Given the description of an element on the screen output the (x, y) to click on. 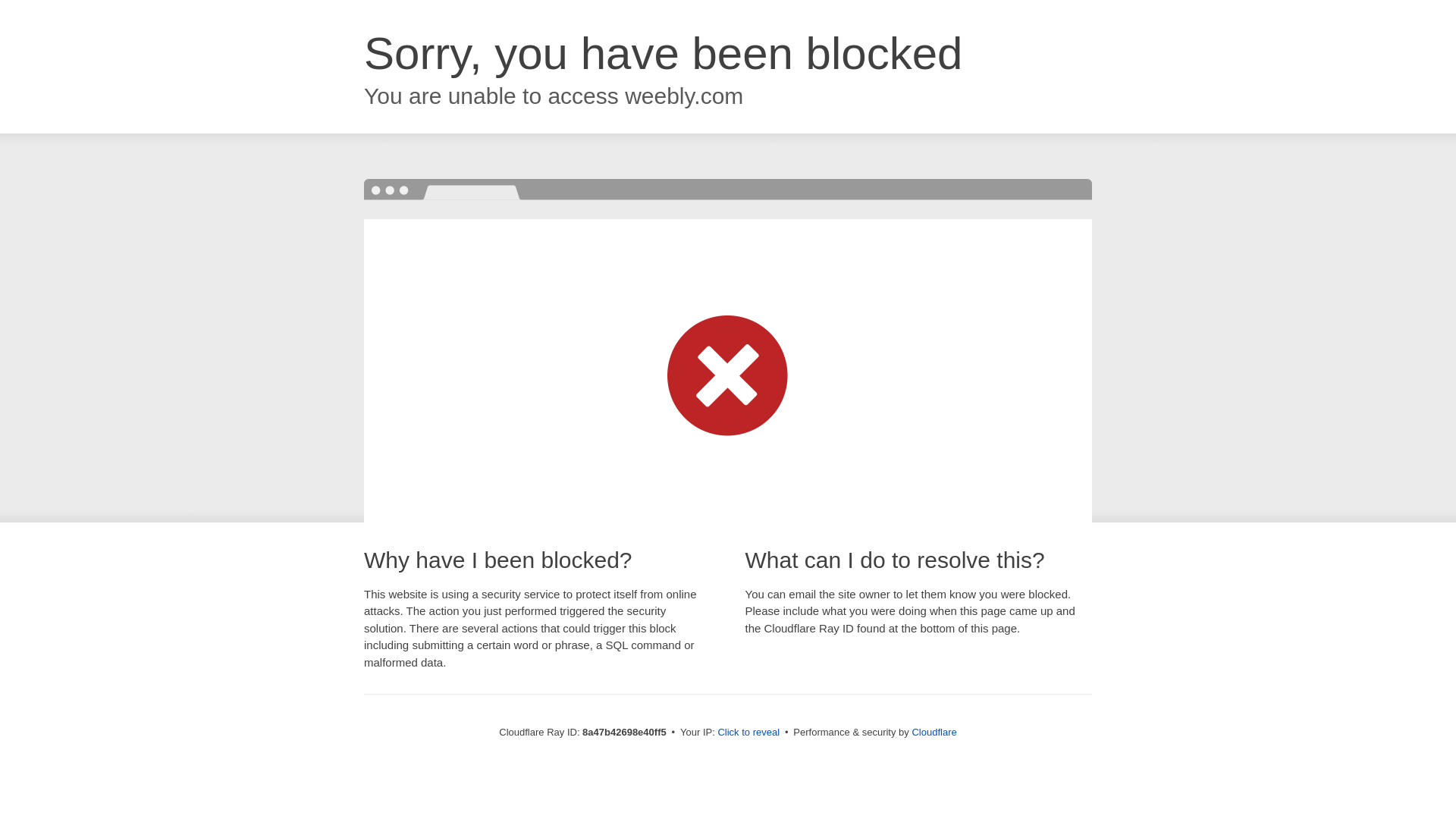
Cloudflare (933, 731)
Click to reveal (747, 732)
